Given the description of an element on the screen output the (x, y) to click on. 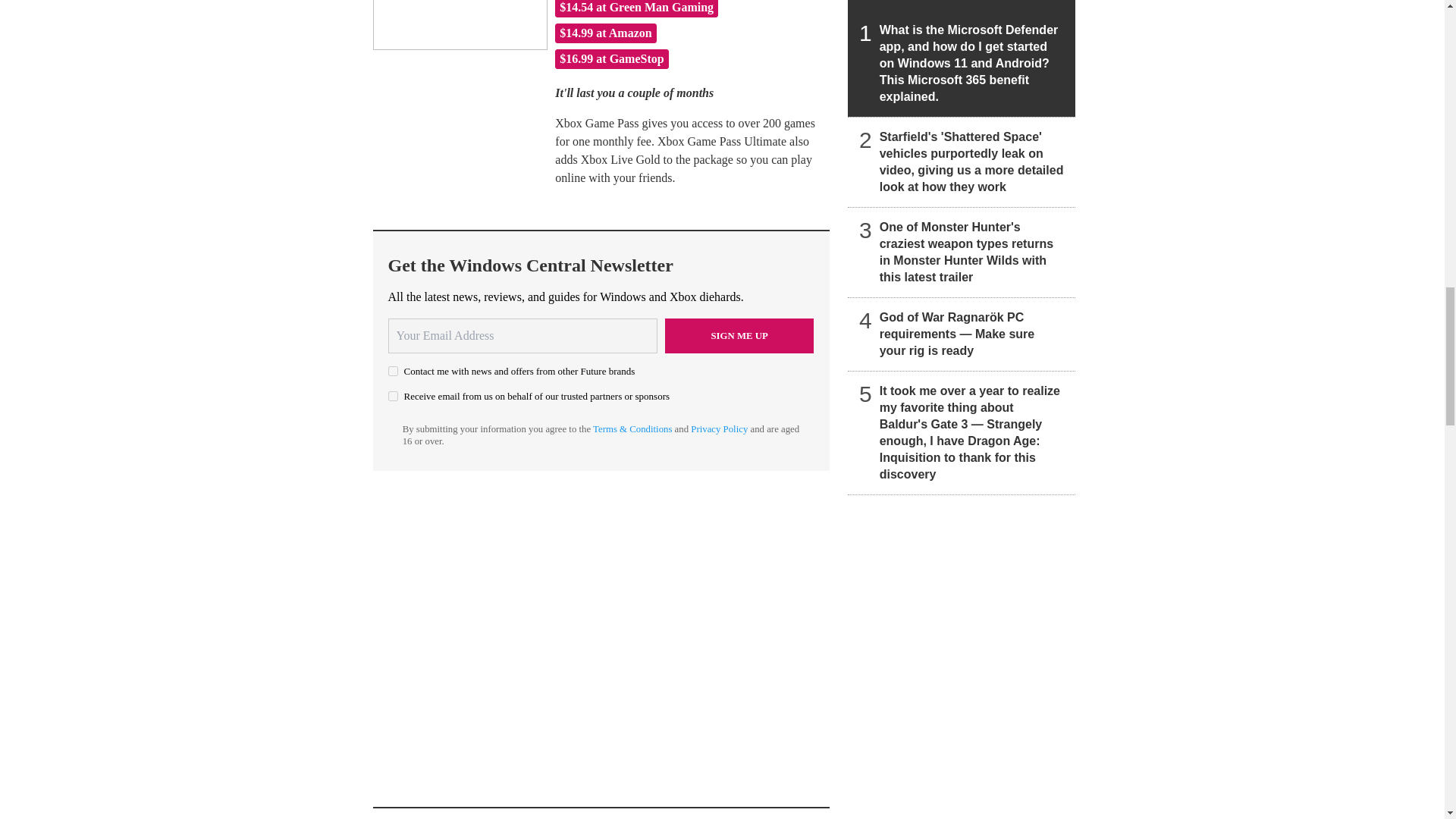
Privacy Policy (719, 429)
on (392, 396)
on (392, 370)
Sign me up (739, 335)
Sign me up (739, 335)
